Given the description of an element on the screen output the (x, y) to click on. 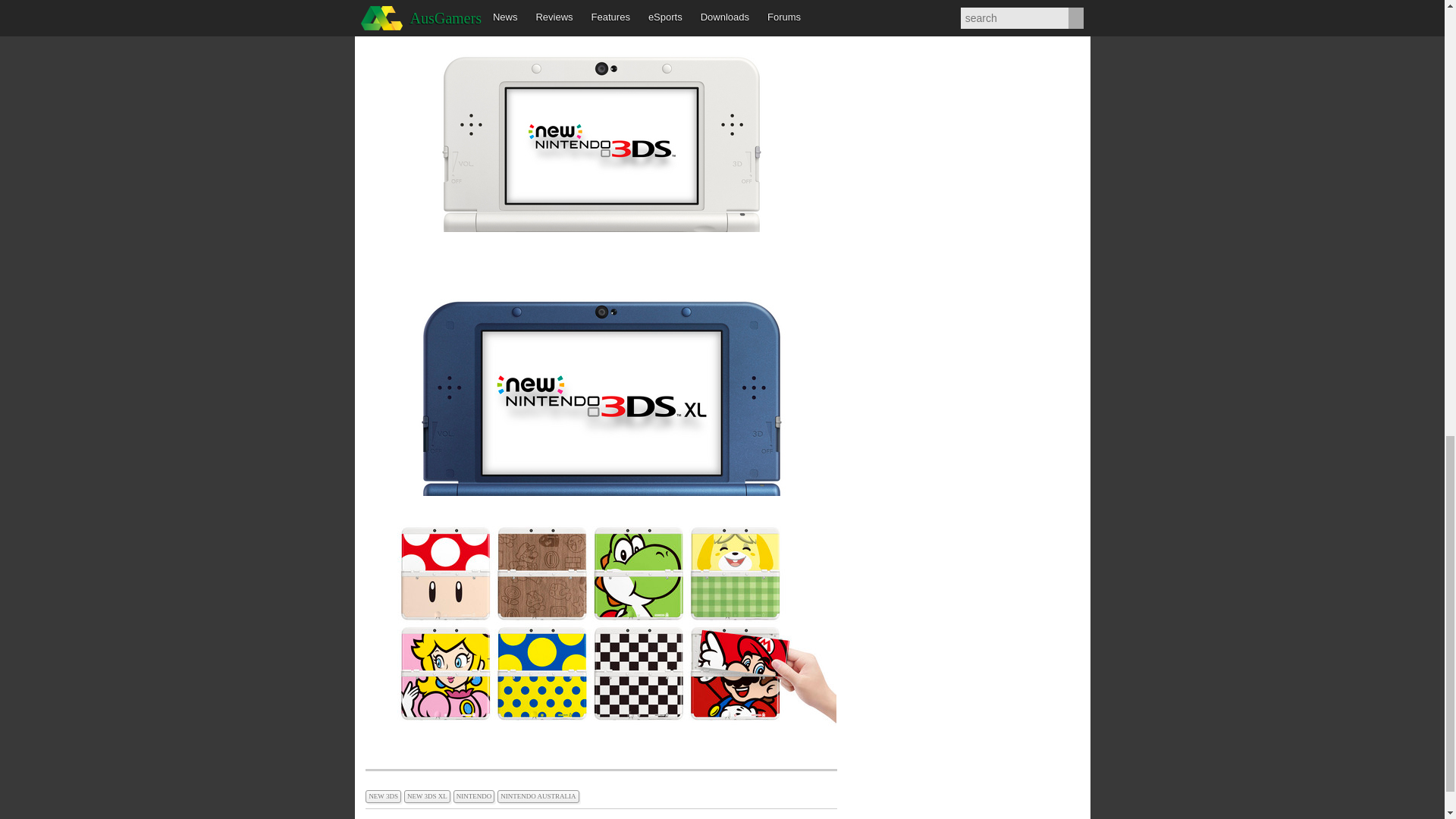
NEW 3DS (384, 794)
NINTENDO (474, 794)
NINTENDO AUSTRALIA (538, 794)
NEW 3DS XL (428, 794)
